Given the description of an element on the screen output the (x, y) to click on. 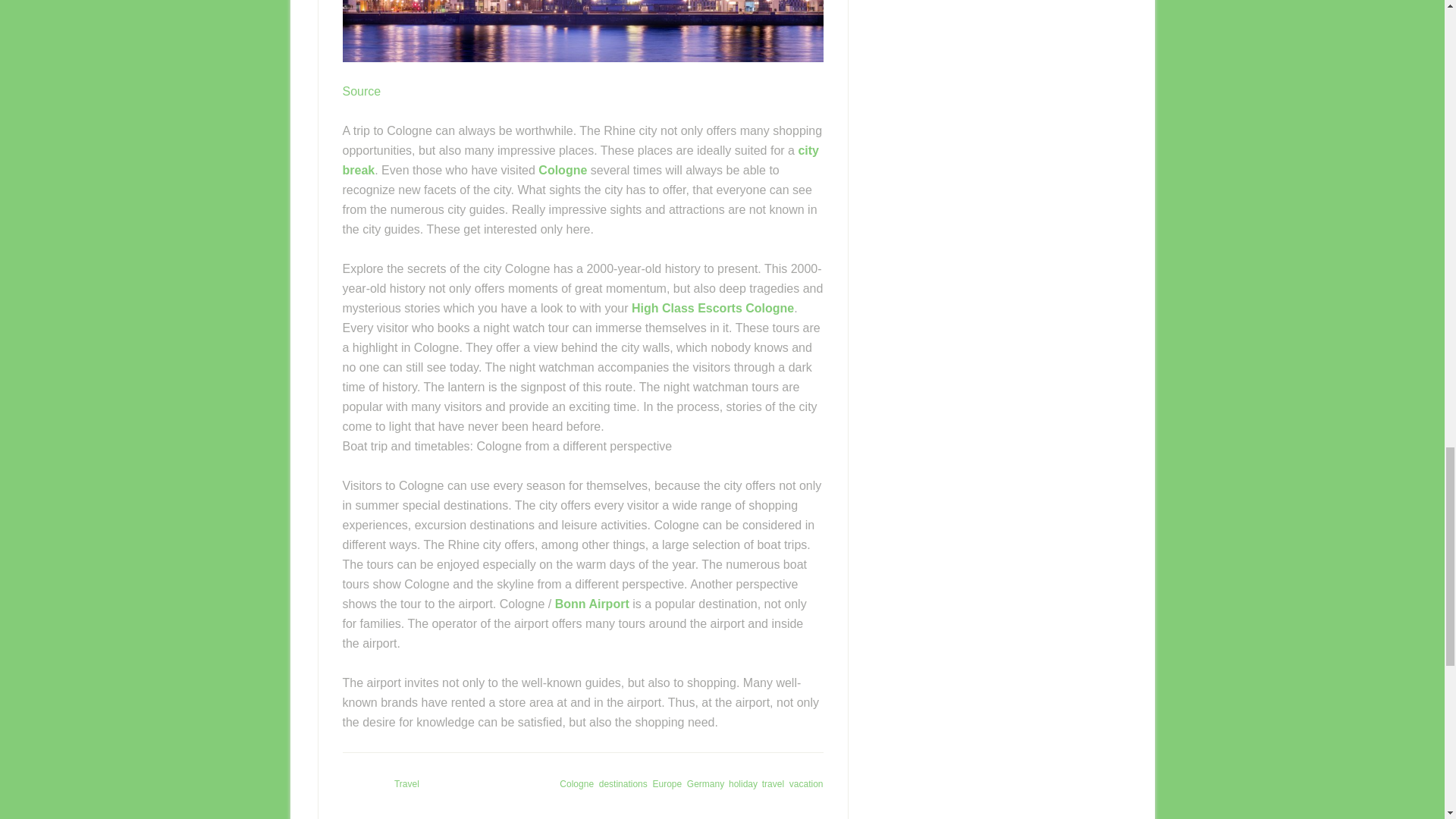
vacation (806, 783)
Europe (666, 783)
destinations (622, 783)
Source (361, 91)
Travel (406, 783)
High Class Escorts Cologne (712, 308)
Germany (705, 783)
Cologne (562, 169)
Bonn Airport (591, 603)
Cologne (576, 783)
